Given the description of an element on the screen output the (x, y) to click on. 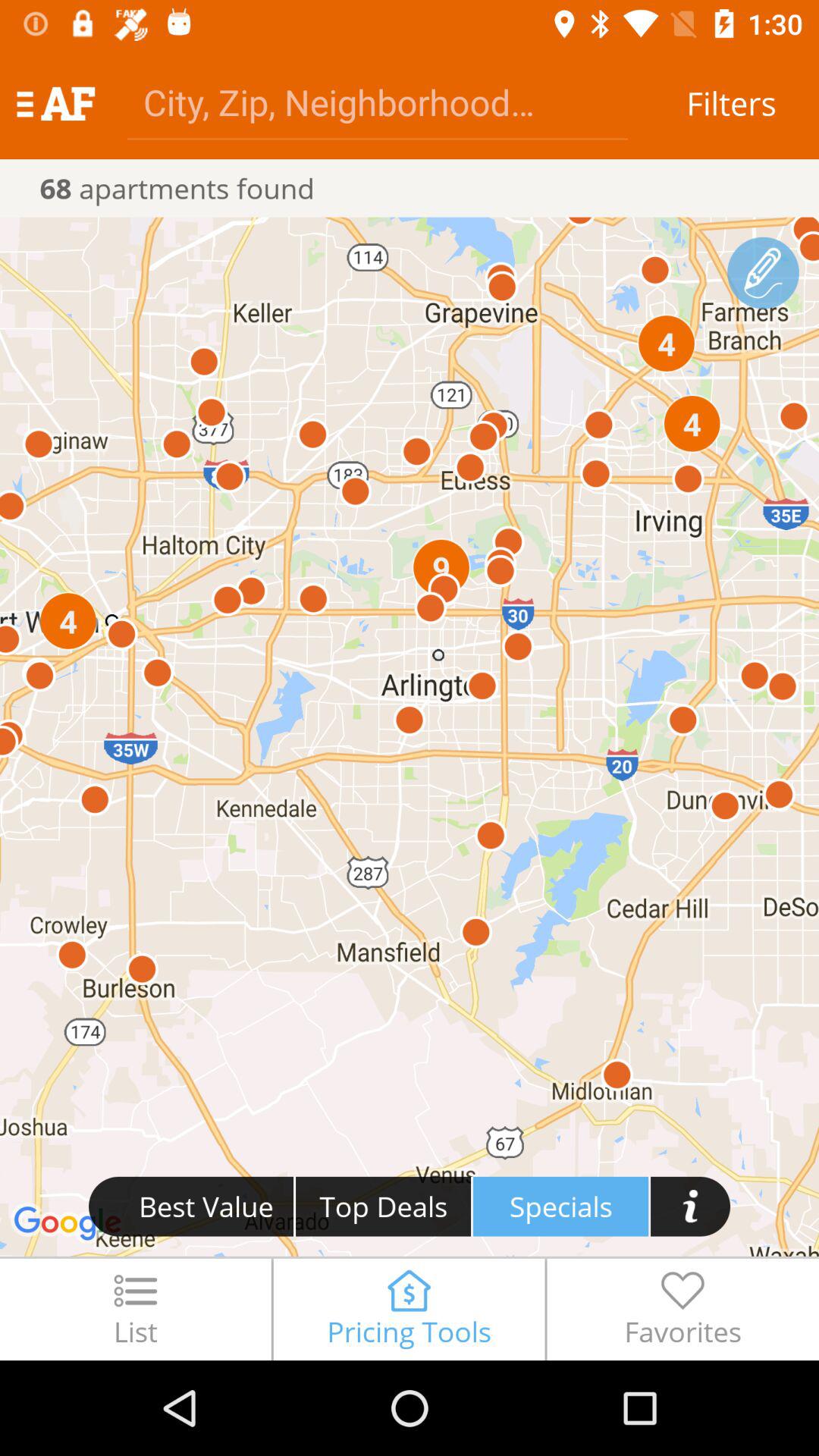
turn on the item above 68 apartments found item (377, 102)
